Given the description of an element on the screen output the (x, y) to click on. 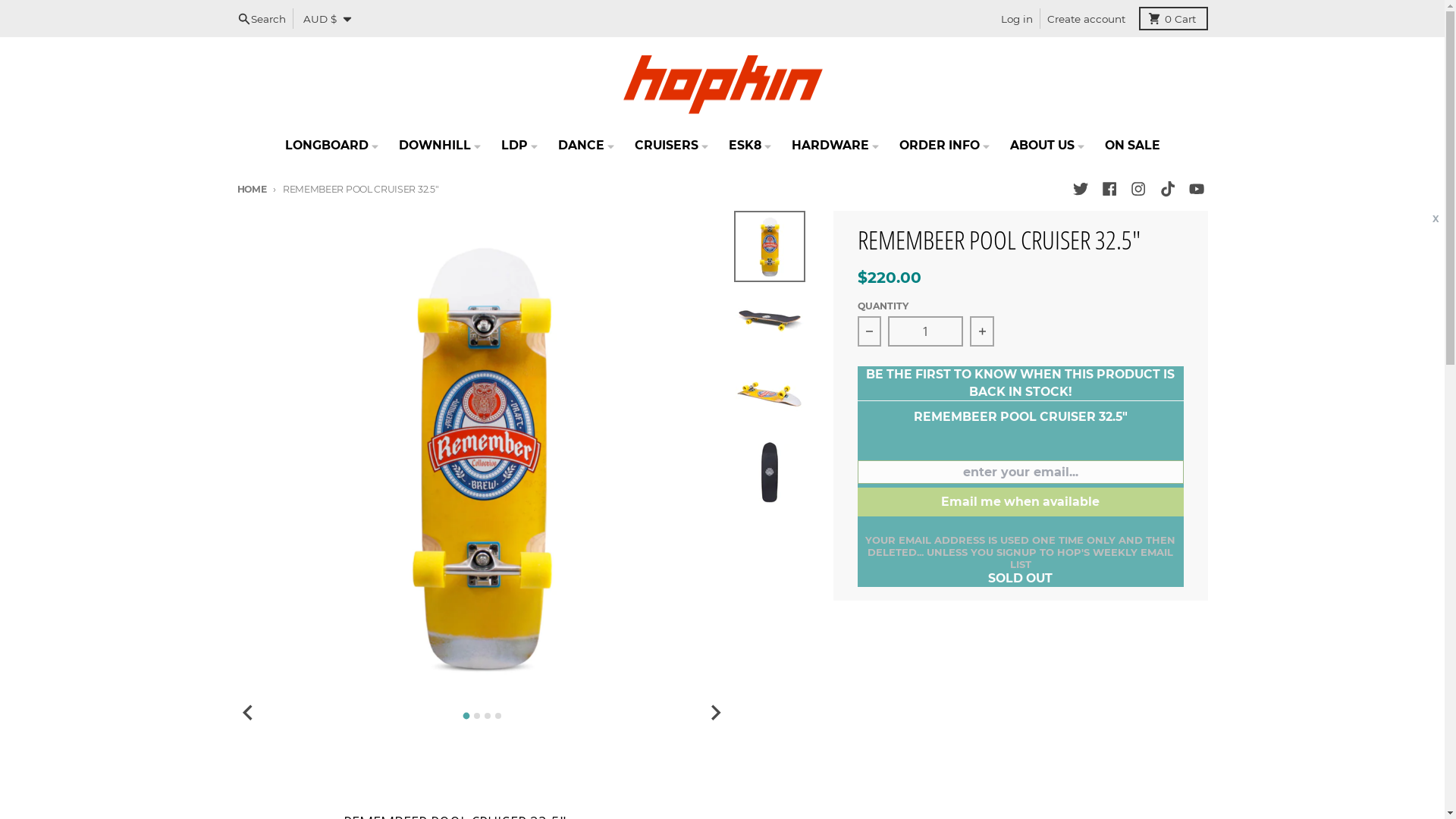
Create account Element type: text (1085, 18)
Instagram - Hopkin Skate Element type: hover (1138, 189)
ON SALE Element type: text (1132, 145)
Email me when available Element type: text (1020, 502)
TikTok - Hopkin Skate Element type: hover (1167, 189)
X Element type: text (1435, 219)
Facebook - Hopkin Skate Element type: hover (1109, 189)
YouTube - Hopkin Skate Element type: hover (1196, 189)
Twitter - Hopkin Skate Element type: hover (1080, 189)
Email when available Element type: text (84, 14)
Search Element type: text (261, 18)
Skip to product information Element type: text (236, 210)
0
Cart Element type: text (1173, 18)
AUD $ Element type: text (326, 18)
HOME Element type: text (251, 188)
Log in Element type: text (1016, 18)
